Given the description of an element on the screen output the (x, y) to click on. 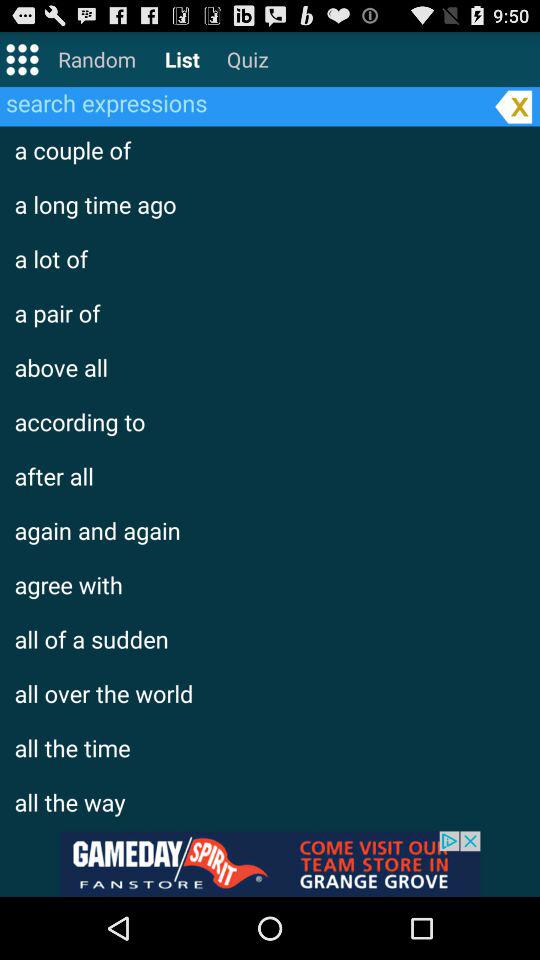
delete (513, 106)
